Given the description of an element on the screen output the (x, y) to click on. 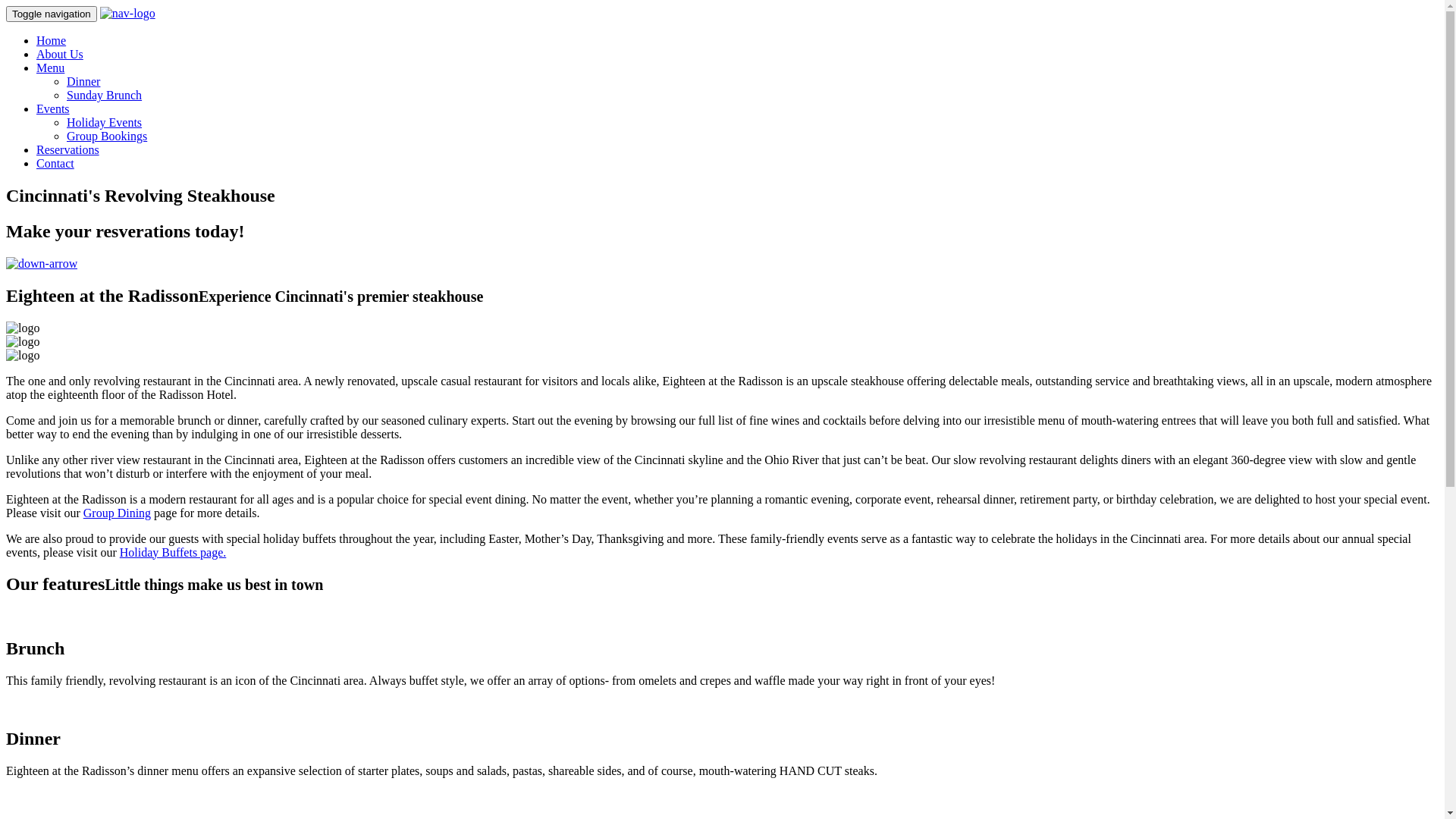
Holiday Events Element type: text (103, 122)
Group Bookings Element type: text (106, 135)
About Us Element type: text (59, 53)
Home Element type: text (50, 40)
Group Dining Element type: text (116, 512)
Sunday Brunch Element type: text (103, 94)
Menu Element type: text (50, 67)
Toggle navigation Element type: text (51, 13)
Events Element type: text (52, 108)
Contact Element type: text (55, 162)
Dinner Element type: text (83, 81)
Reservations Element type: text (67, 149)
Holiday Buffets page. Element type: text (172, 552)
